Given the description of an element on the screen output the (x, y) to click on. 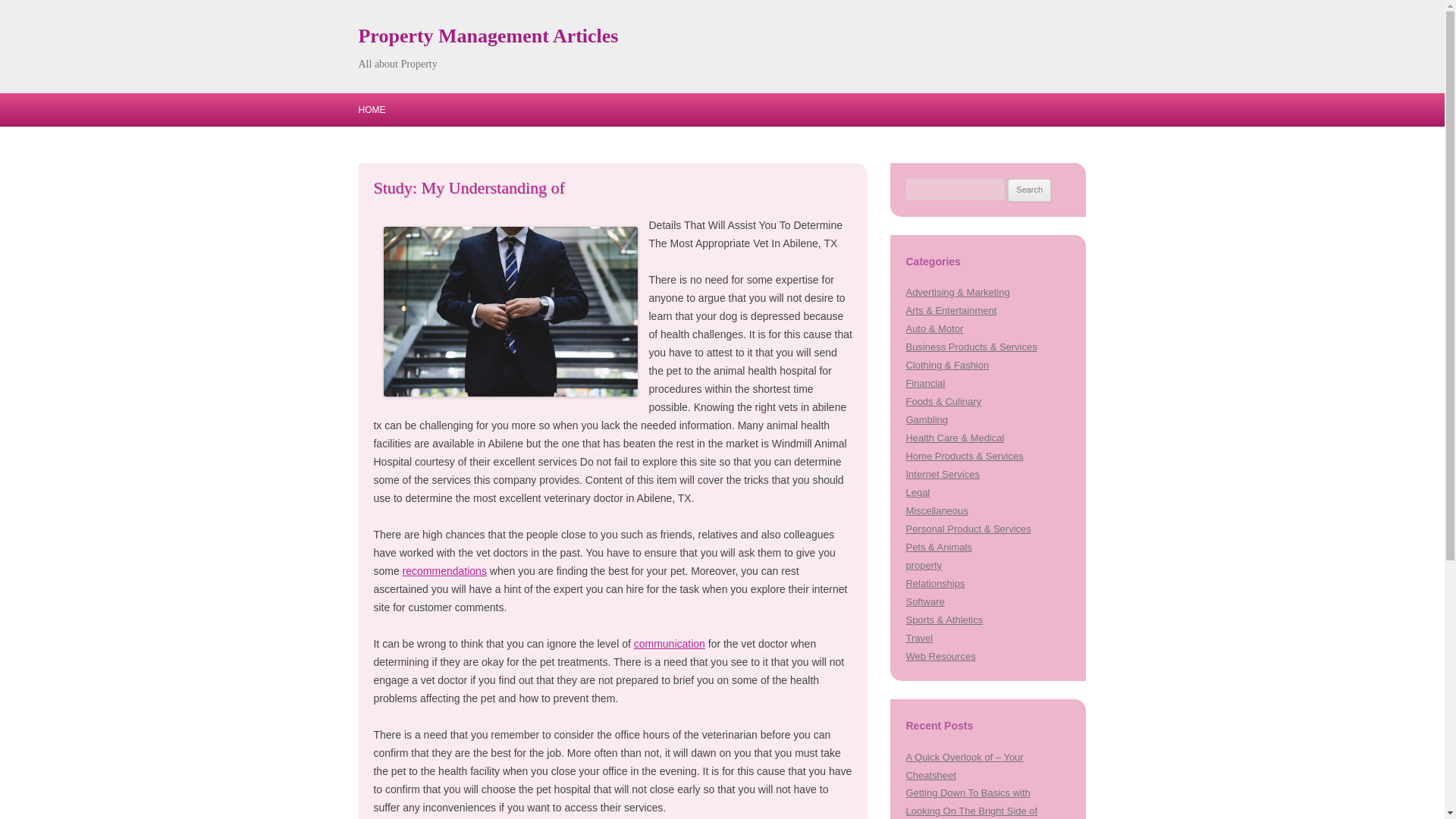
property (923, 564)
Relationships (934, 583)
communication (668, 644)
Miscellaneous (936, 510)
Property Management Articles (487, 36)
Search (1029, 190)
Looking On The Bright Side of (970, 810)
Software (924, 601)
Legal (917, 491)
